Given the description of an element on the screen output the (x, y) to click on. 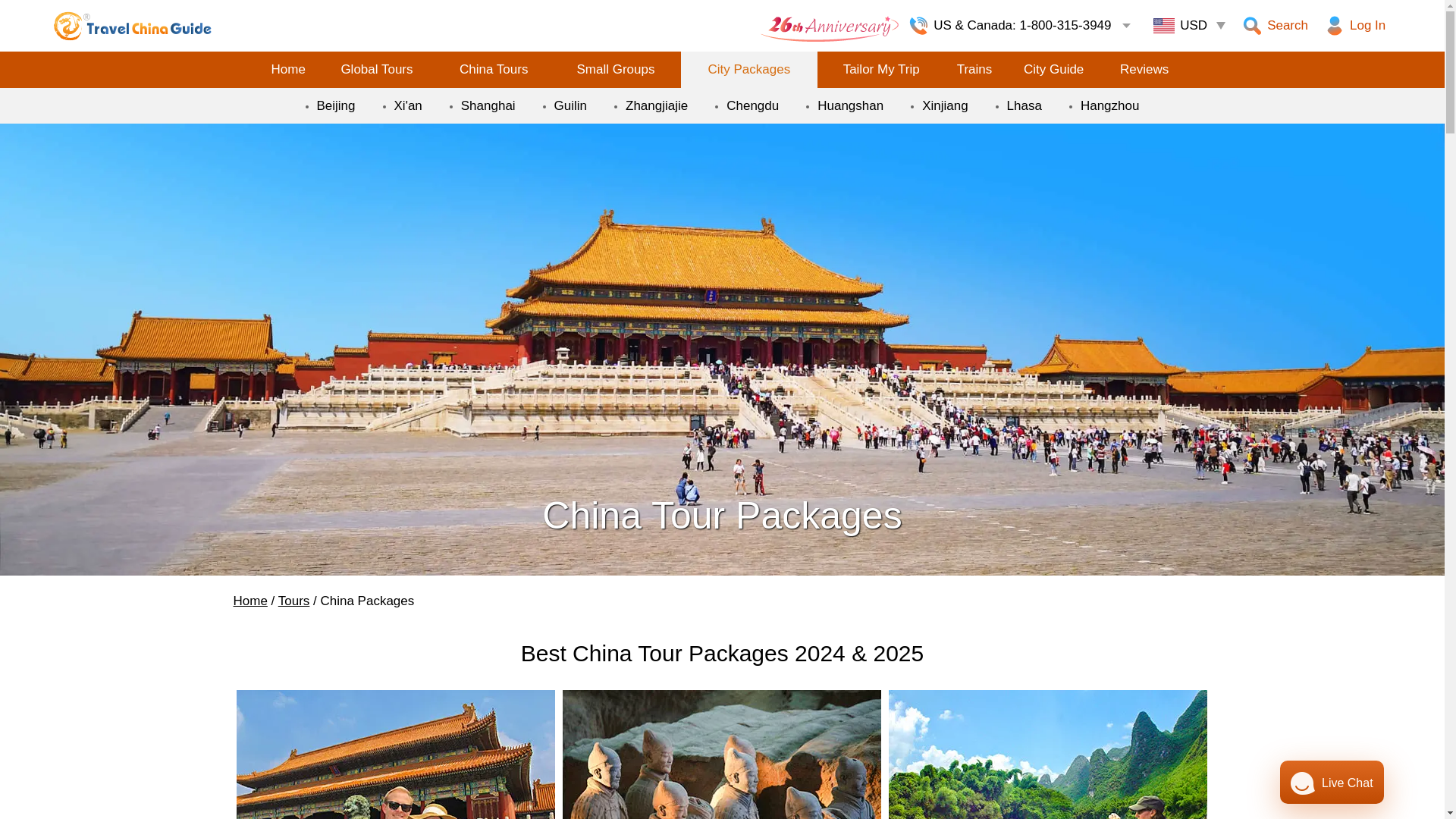
Home (249, 599)
Shanghai (488, 105)
Global Tours (376, 69)
Reviews (1144, 69)
Tours (294, 599)
Beijing (336, 105)
City Packages (749, 69)
